Given the description of an element on the screen output the (x, y) to click on. 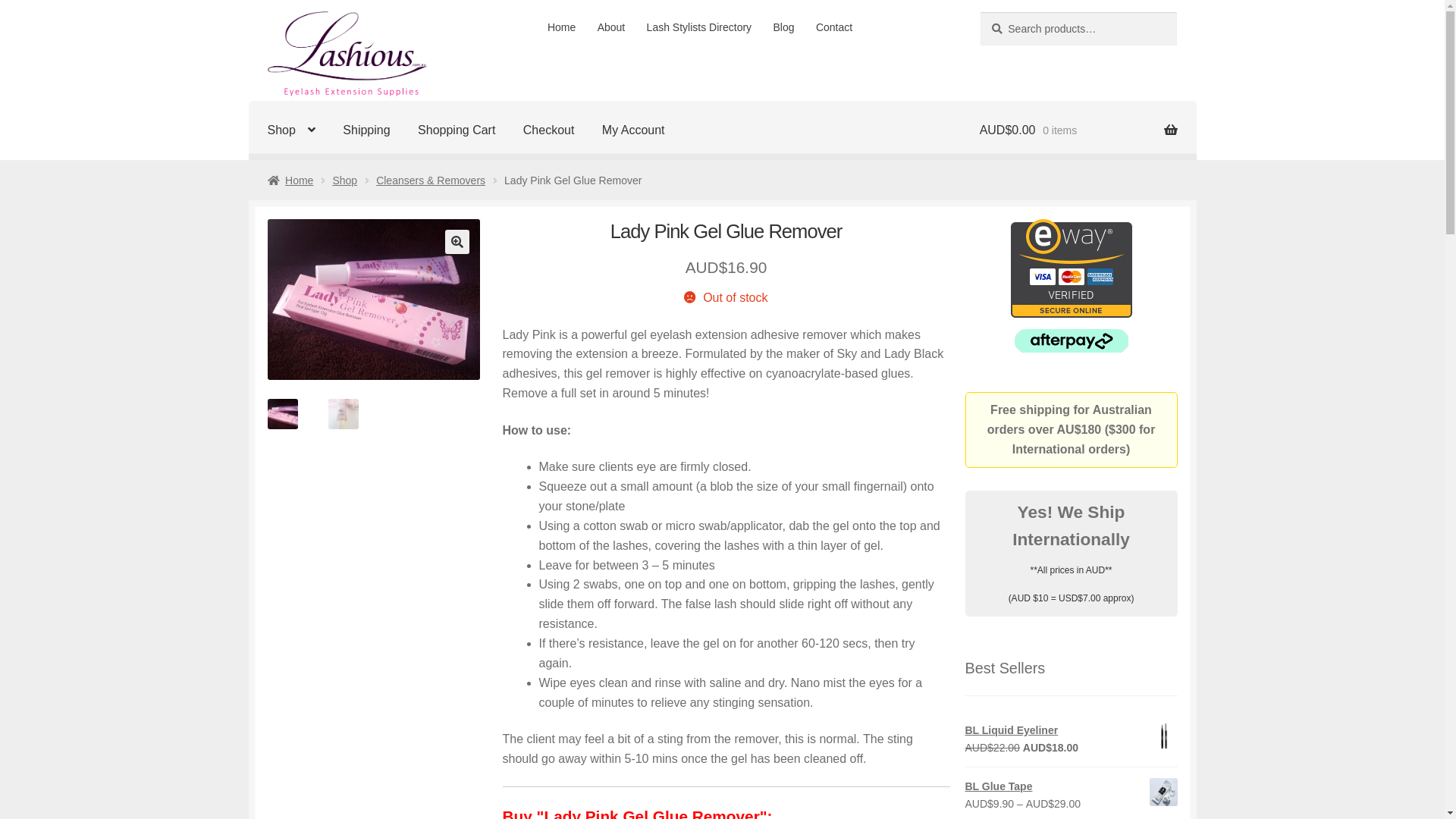
Blog Element type: text (783, 27)
Home Element type: text (289, 180)
AUD$0.00 0 items Element type: text (1078, 130)
Checkout Element type: text (548, 130)
Shop Element type: text (290, 130)
Contact Element type: text (834, 27)
Shopping Cart Element type: text (456, 130)
Shop Element type: text (344, 180)
Yes! We Ship Internationally Element type: text (1070, 525)
Cleansers & Removers Element type: text (430, 180)
My Account Element type: text (633, 130)
lady-pink-debonder Element type: hover (372, 299)
BL Glue Tape Element type: text (1070, 786)
BL Liquid Eyeliner Element type: text (1070, 730)
Skip to navigation Element type: text (266, 10)
Search Element type: text (979, 10)
Home Element type: text (561, 27)
Lash Stylists Directory Element type: text (698, 27)
About Element type: text (610, 27)
Shipping Element type: text (365, 130)
